Given the description of an element on the screen output the (x, y) to click on. 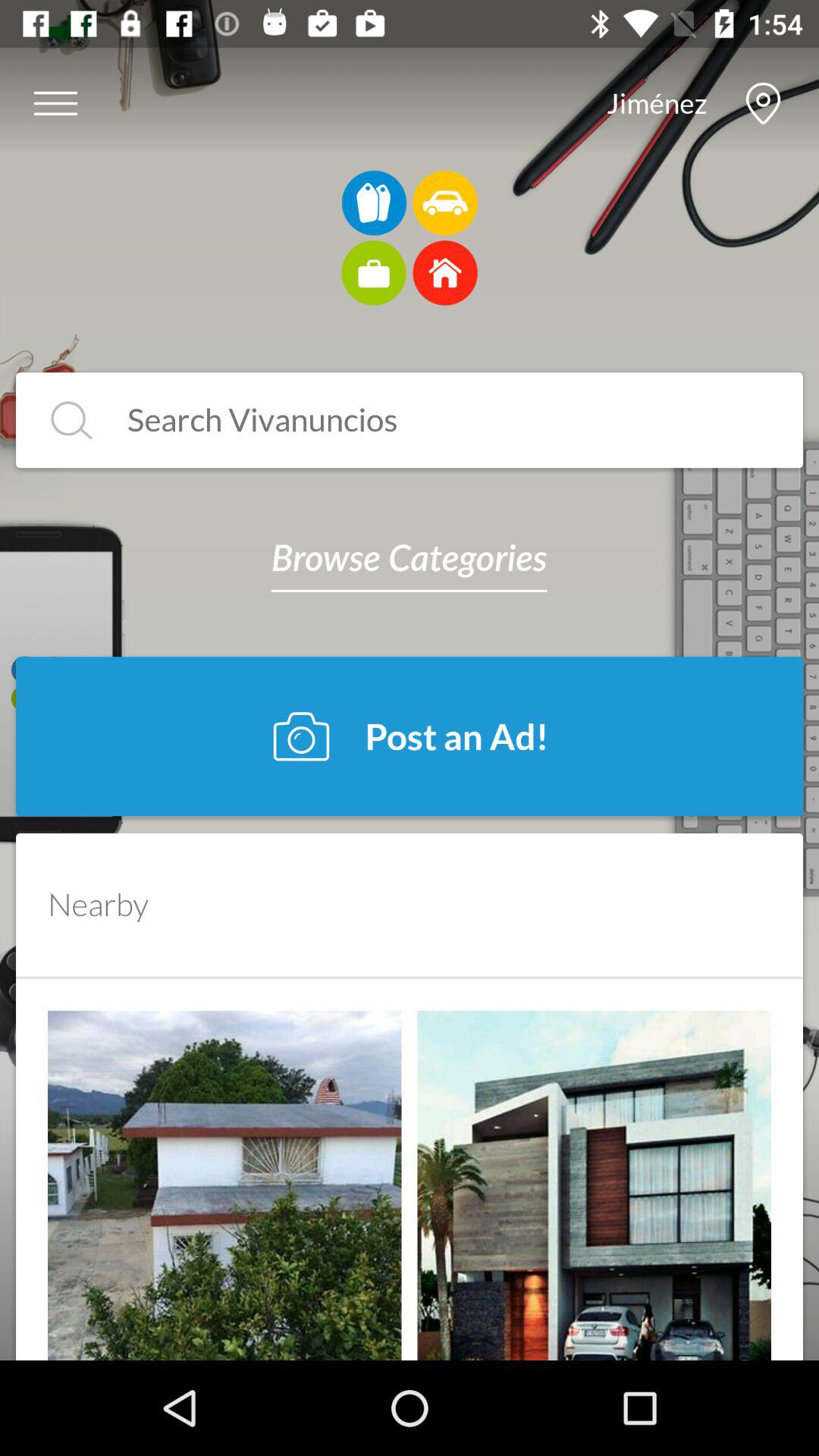
search vivanucios (433, 420)
